Given the description of an element on the screen output the (x, y) to click on. 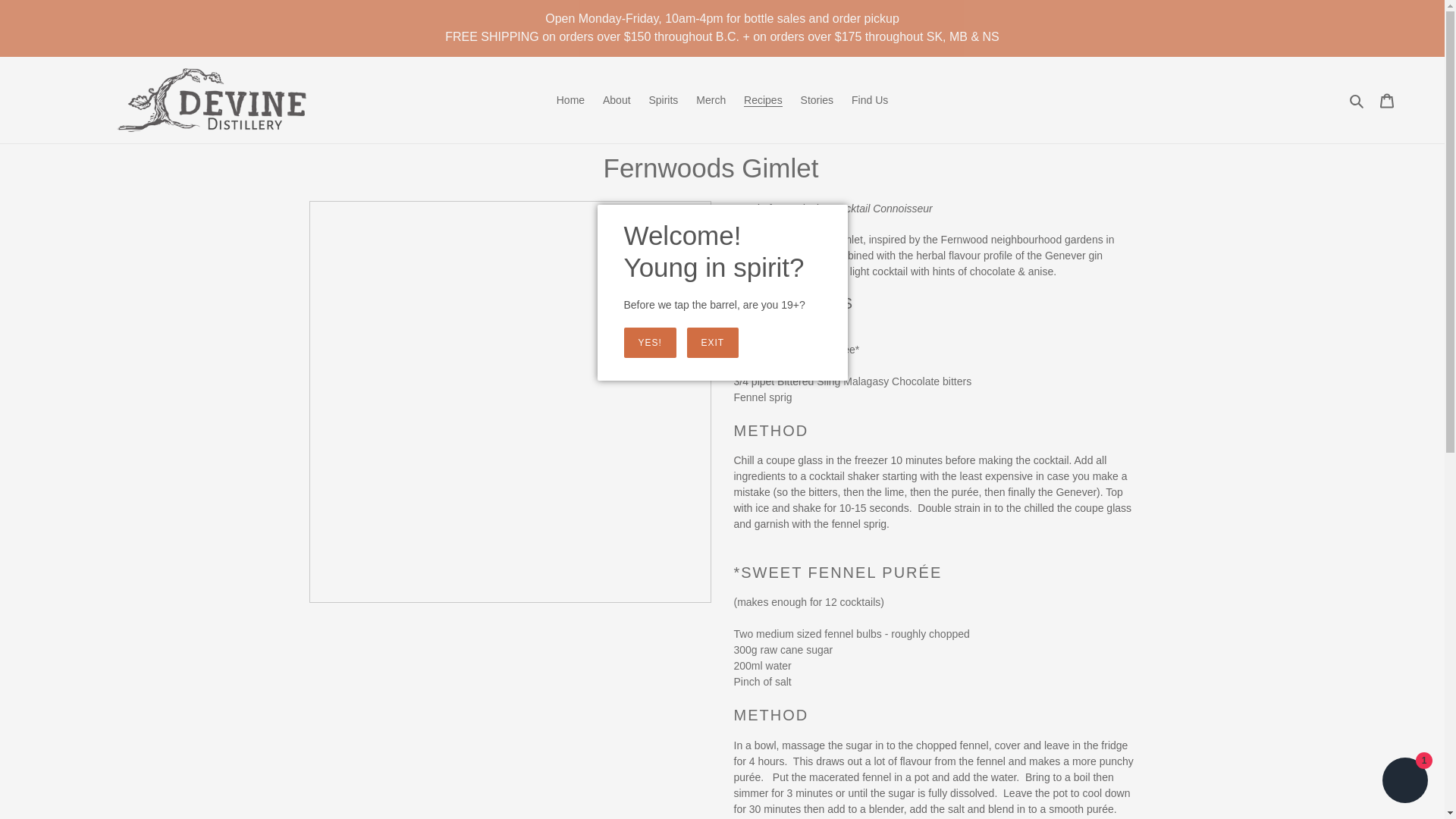
EXIT (713, 342)
EXIT (713, 341)
Find Us (869, 99)
About (617, 99)
Recipes (763, 99)
Stories (817, 99)
YES! (649, 342)
Shopify online store chat (1404, 781)
Home (570, 99)
Spirits (662, 99)
DEVINE Genever  (802, 333)
Merch (710, 99)
Cart (1387, 99)
Bittered Sling Malagasy Chocolate bitters (874, 381)
Search (1357, 99)
